Given the description of an element on the screen output the (x, y) to click on. 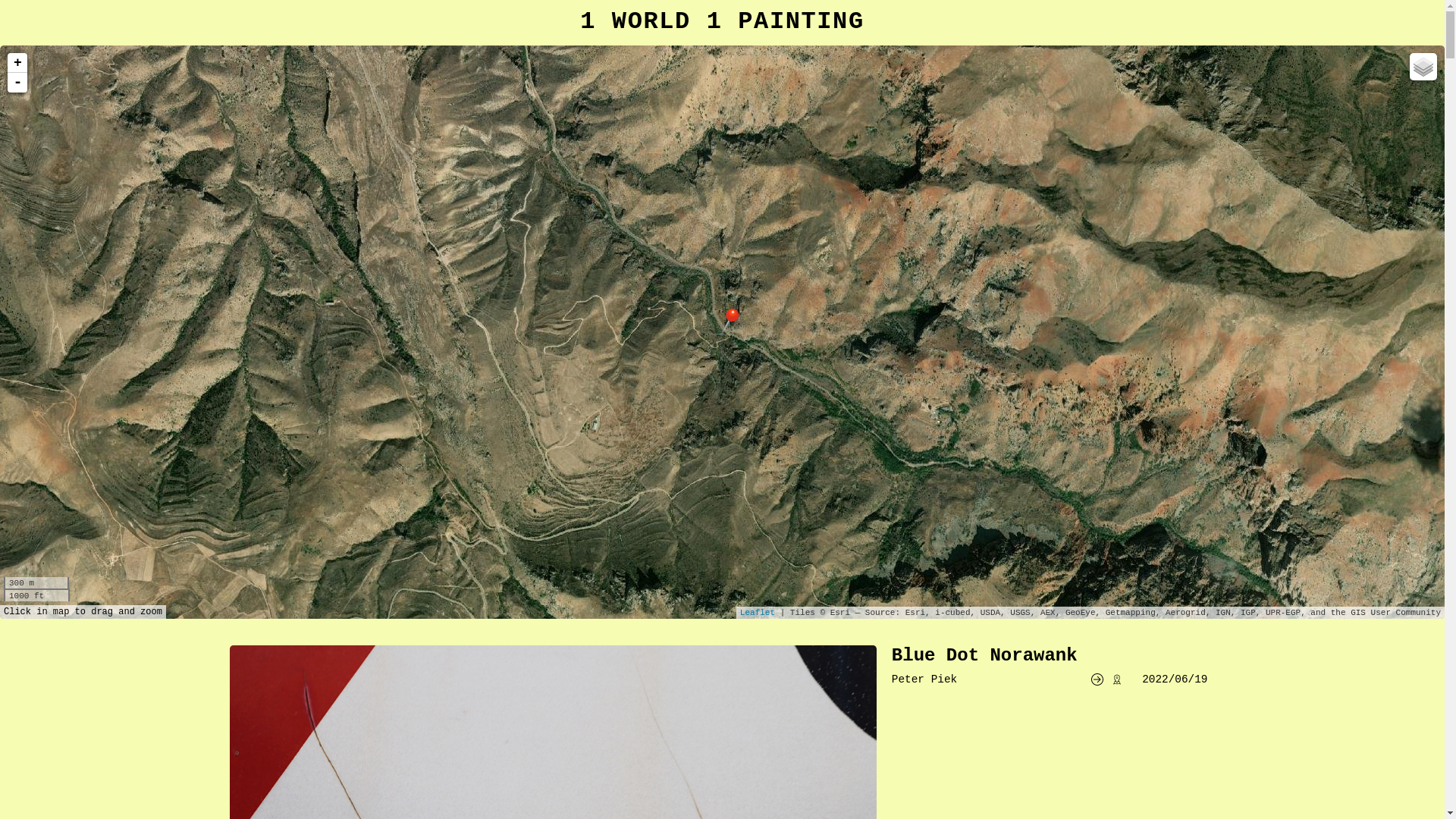
+ Element type: text (17, 62)
Leaflet Element type: text (757, 612)
go to website Element type: hover (1097, 679)
Layers Element type: hover (1423, 66)
1 WORLD 1 PAINTING Element type: text (721, 21)
show spot in google maps Element type: hover (1116, 679)
- Element type: text (17, 82)
